Given the description of an element on the screen output the (x, y) to click on. 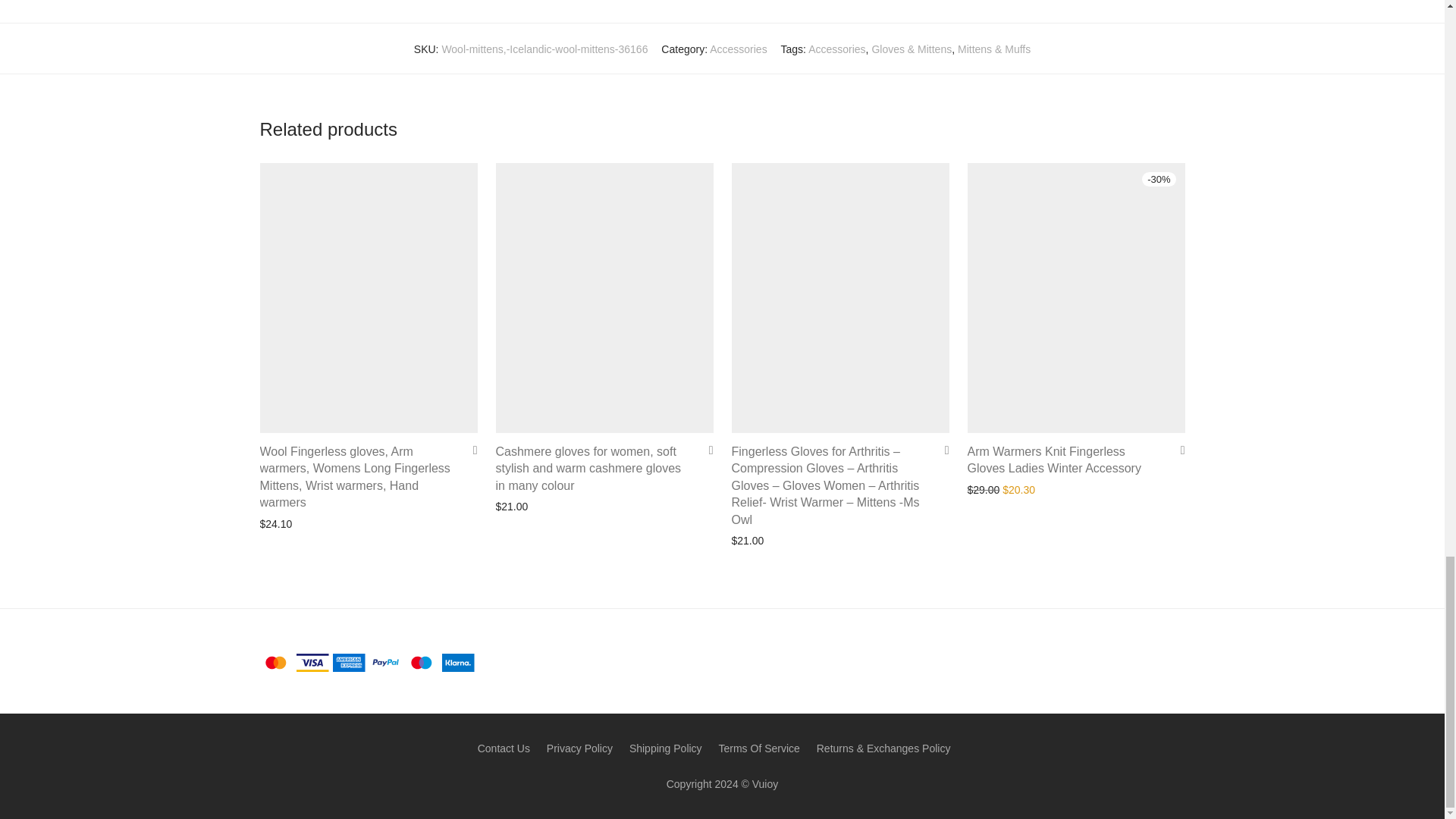
Add to Wishlist (470, 449)
Add to Wishlist (1177, 449)
Accessories (738, 49)
Add to Wishlist (941, 449)
Accessories (836, 49)
Add to Wishlist (705, 449)
